Given the description of an element on the screen output the (x, y) to click on. 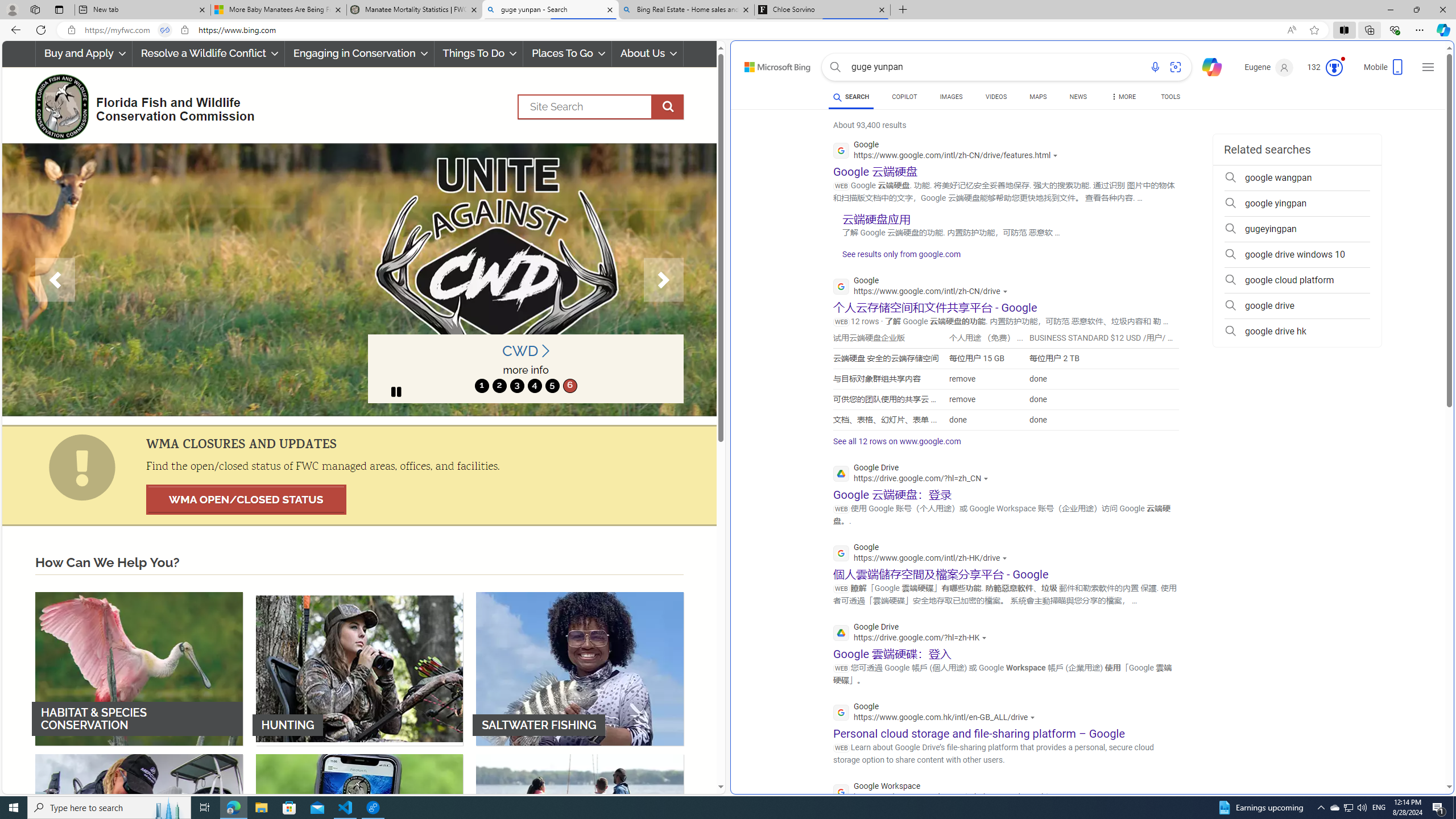
SEARCH (850, 96)
Read aloud this page (Ctrl+Shift+U) (1291, 29)
WMA OPEN/CLOSED STATUS (245, 499)
Google (936, 713)
VIDEOS (995, 98)
Split screen (1344, 29)
Manatee Mortality Statistics | FWC (414, 9)
View site information (184, 29)
Bing Real Estate - Home sales and rental listings (685, 9)
Workspaces (34, 9)
